Given the description of an element on the screen output the (x, y) to click on. 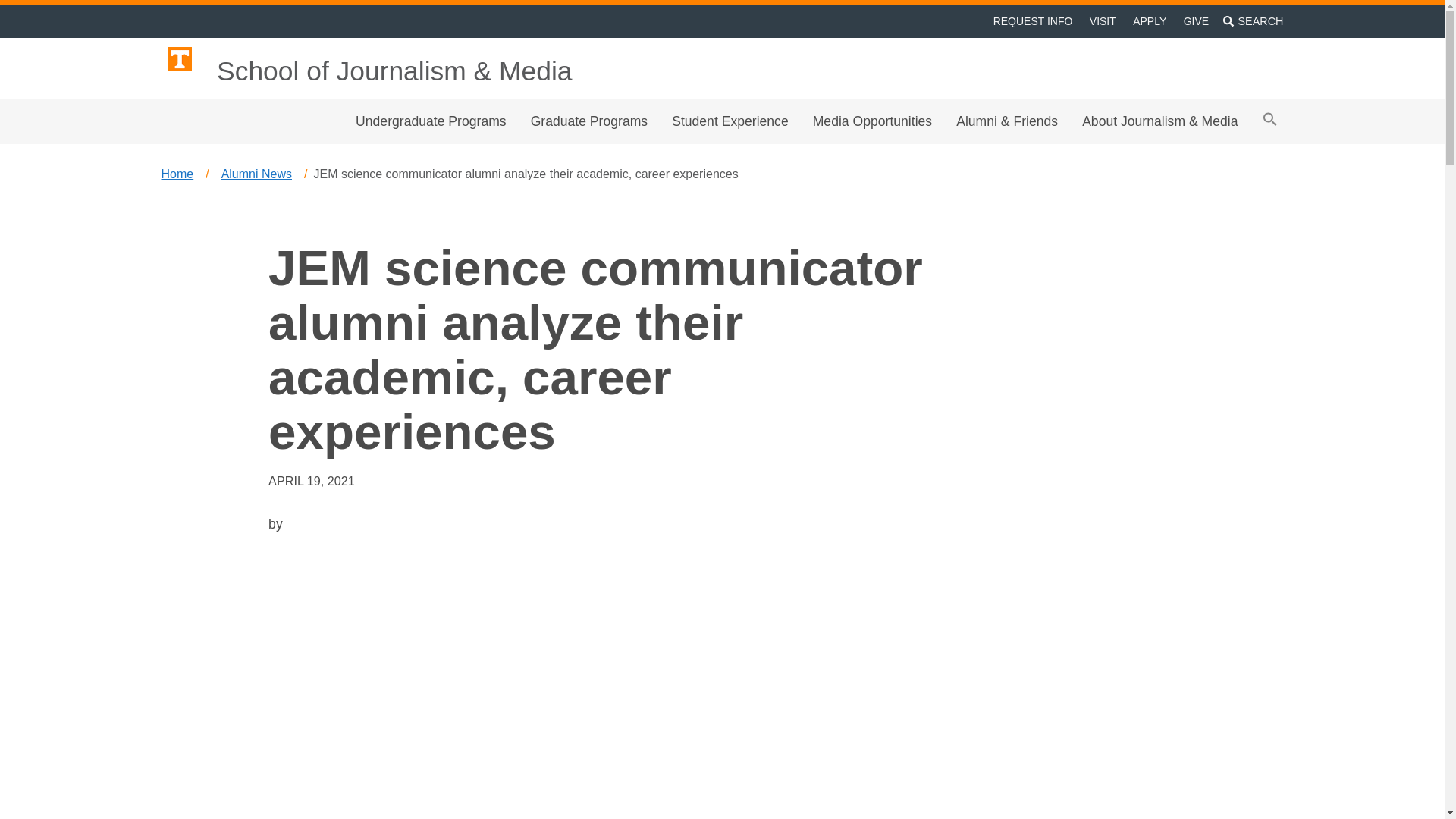
SEARCH (1252, 20)
APPLY (1149, 20)
Graduate Programs (589, 121)
VISIT (1102, 20)
Media Opportunities (871, 121)
GIVE (1195, 20)
Undergraduate Programs (430, 121)
REQUEST INFO (1032, 20)
Student Experience (729, 121)
